Given the description of an element on the screen output the (x, y) to click on. 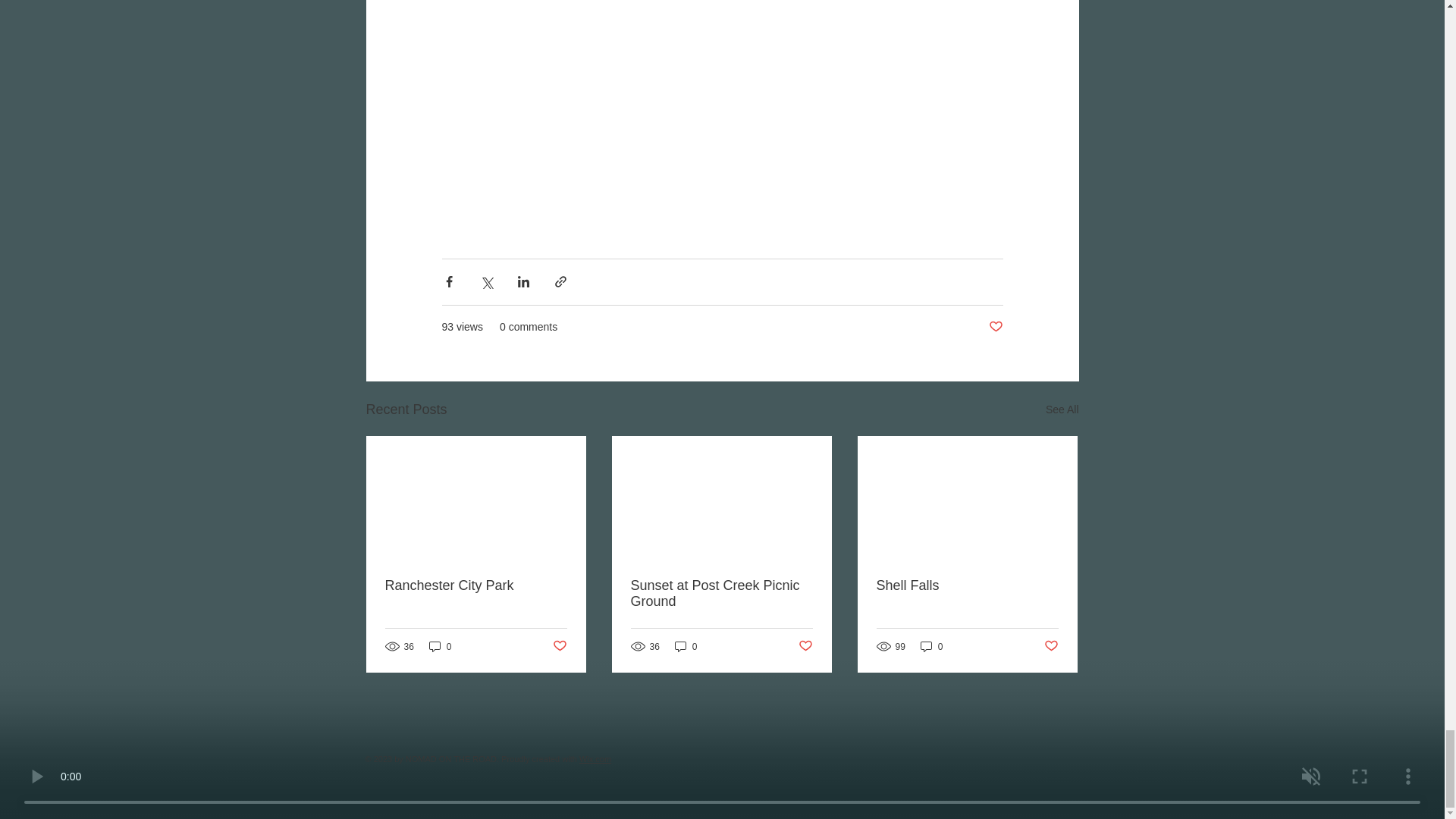
0 (440, 646)
Post not marked as liked (1050, 646)
Shell Falls (967, 585)
See All (1061, 409)
0 (931, 646)
Ranchester City Park (476, 585)
Post not marked as liked (558, 646)
Post not marked as liked (804, 646)
Sunset at Post Creek Picnic Ground (721, 593)
Post not marked as liked (995, 326)
0 (685, 646)
Wix.com (595, 758)
